Given the description of an element on the screen output the (x, y) to click on. 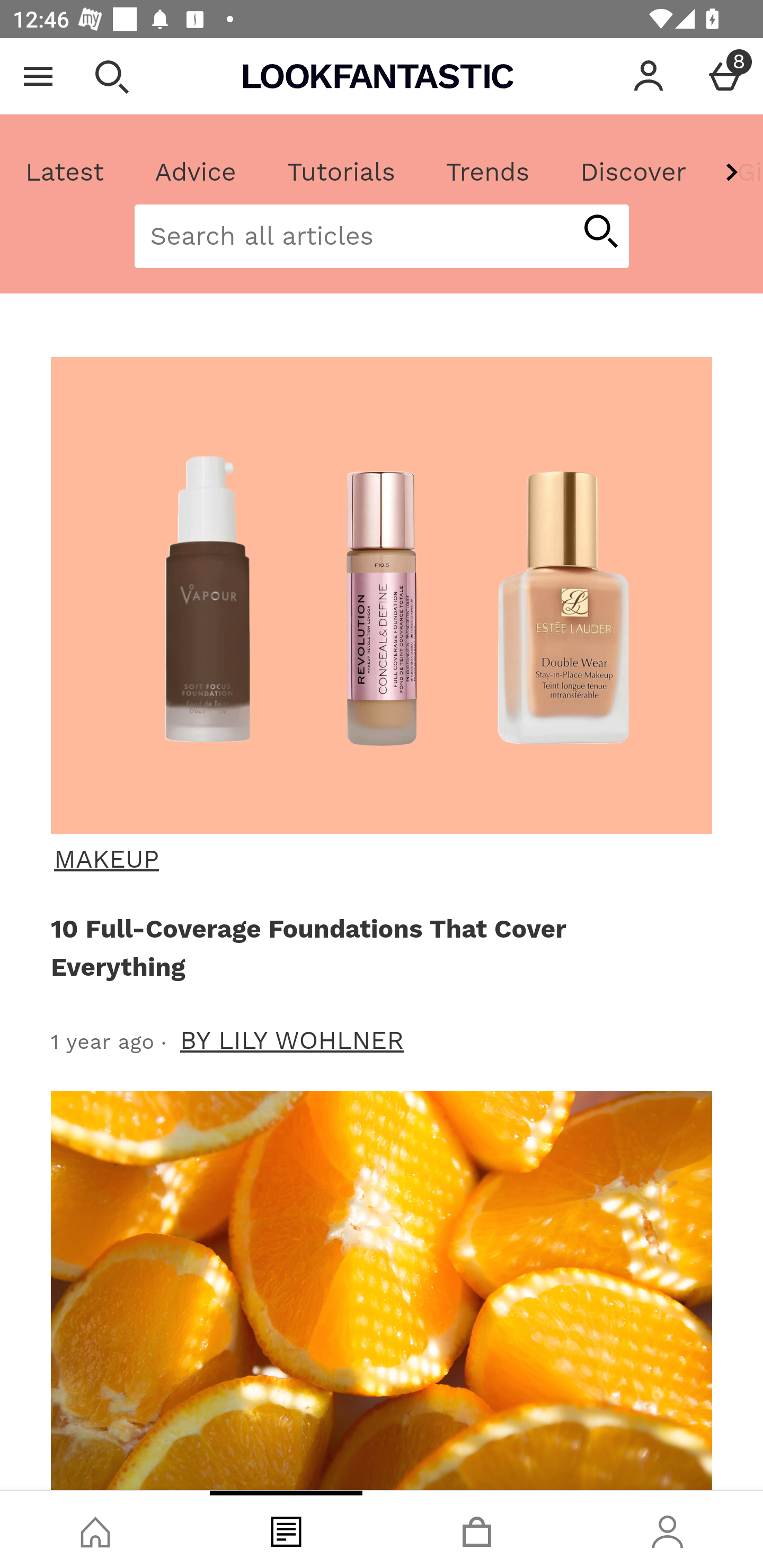
Open Menu (38, 75)
Open search (111, 75)
Account (648, 75)
Basket Menu (724, 75)
Lookfantastic USA Home page (378, 76)
Latest (65, 172)
Advice (195, 172)
Tutorials (340, 172)
Trends (486, 172)
Discover (632, 172)
Gift Guide (736, 172)
start article search (599, 232)
MAKEUP (379, 858)
10 Full-Coverage Foundations That Cover Everything (377, 947)
BY LILY WOHLNER (292, 1040)
Shop, tab, 1 of 4 (95, 1529)
Blog, tab, 2 of 4 (285, 1529)
Basket, tab, 3 of 4 (476, 1529)
Account, tab, 4 of 4 (667, 1529)
